Given the description of an element on the screen output the (x, y) to click on. 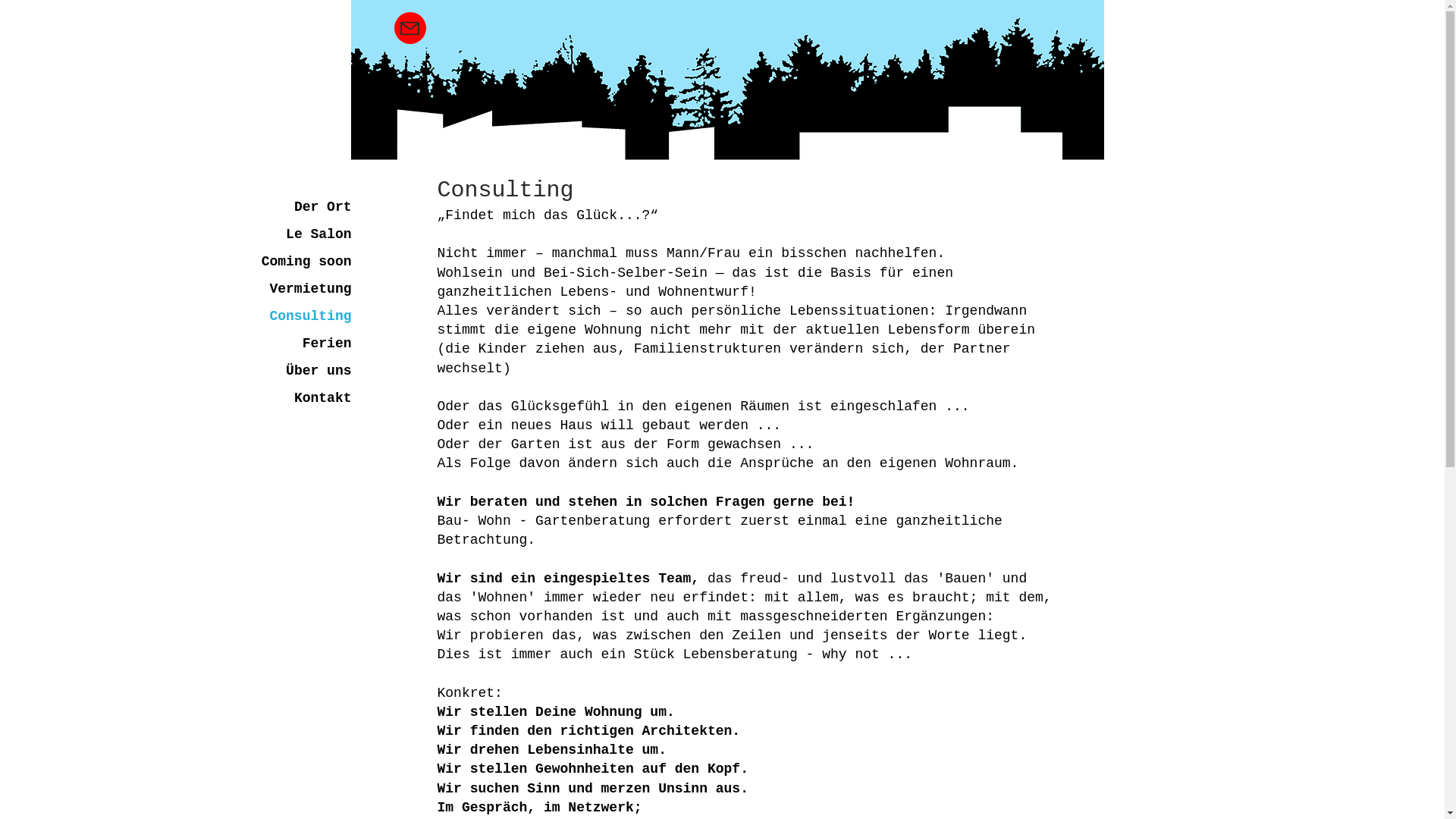
Vermietung Element type: text (286, 288)
Consulting Element type: text (286, 315)
Ferien Element type: text (286, 343)
Coming soon Element type: text (286, 261)
Kontakt Element type: text (286, 397)
Der Ort Element type: text (286, 206)
Le Salon Element type: text (286, 233)
